Given the description of an element on the screen output the (x, y) to click on. 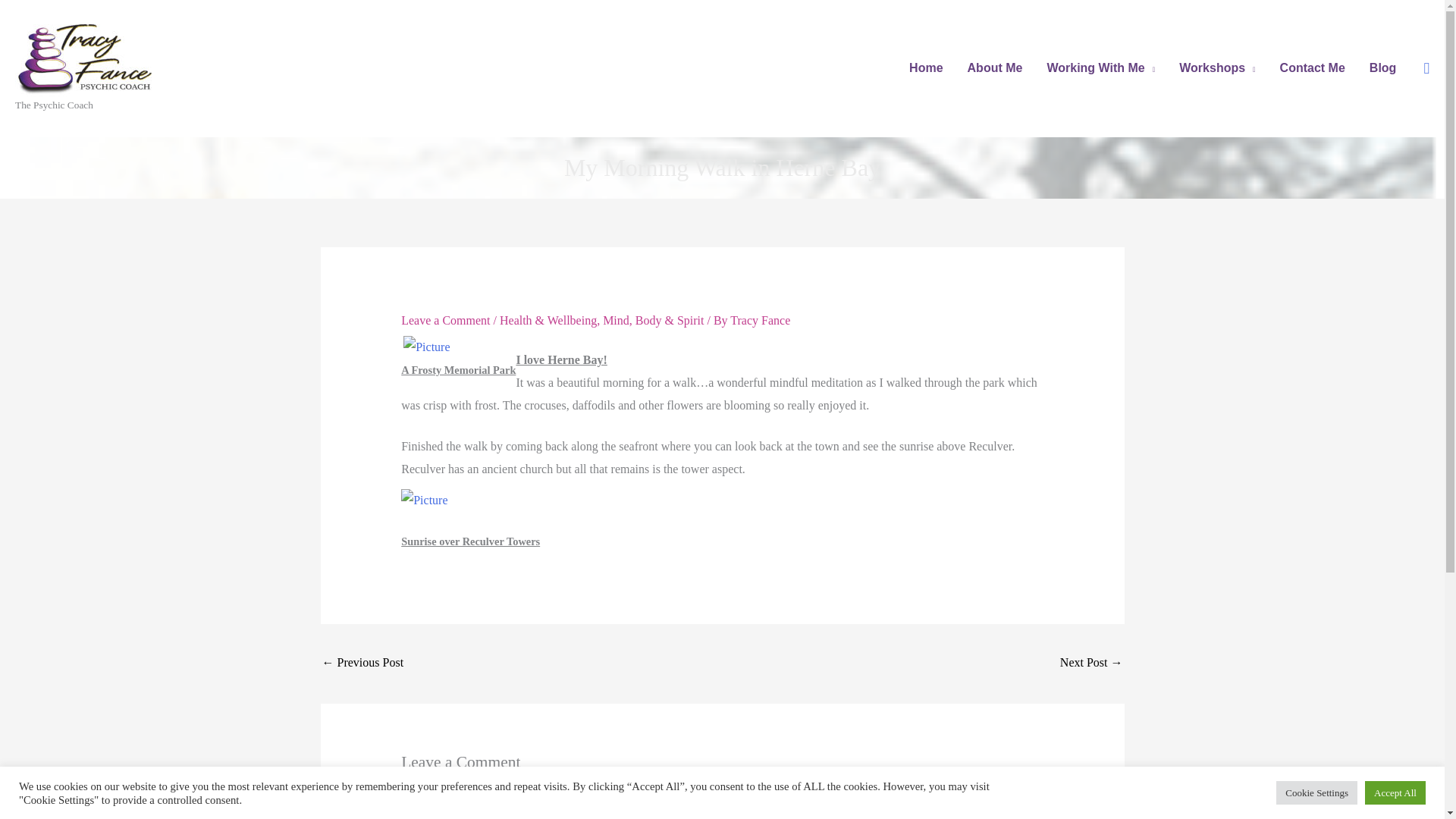
Workshops (1216, 68)
Working With Me (1100, 68)
Home (925, 68)
How Our View of Self is Distorted (1090, 664)
About Me (995, 68)
View all posts by Tracy Fance (760, 319)
